Given the description of an element on the screen output the (x, y) to click on. 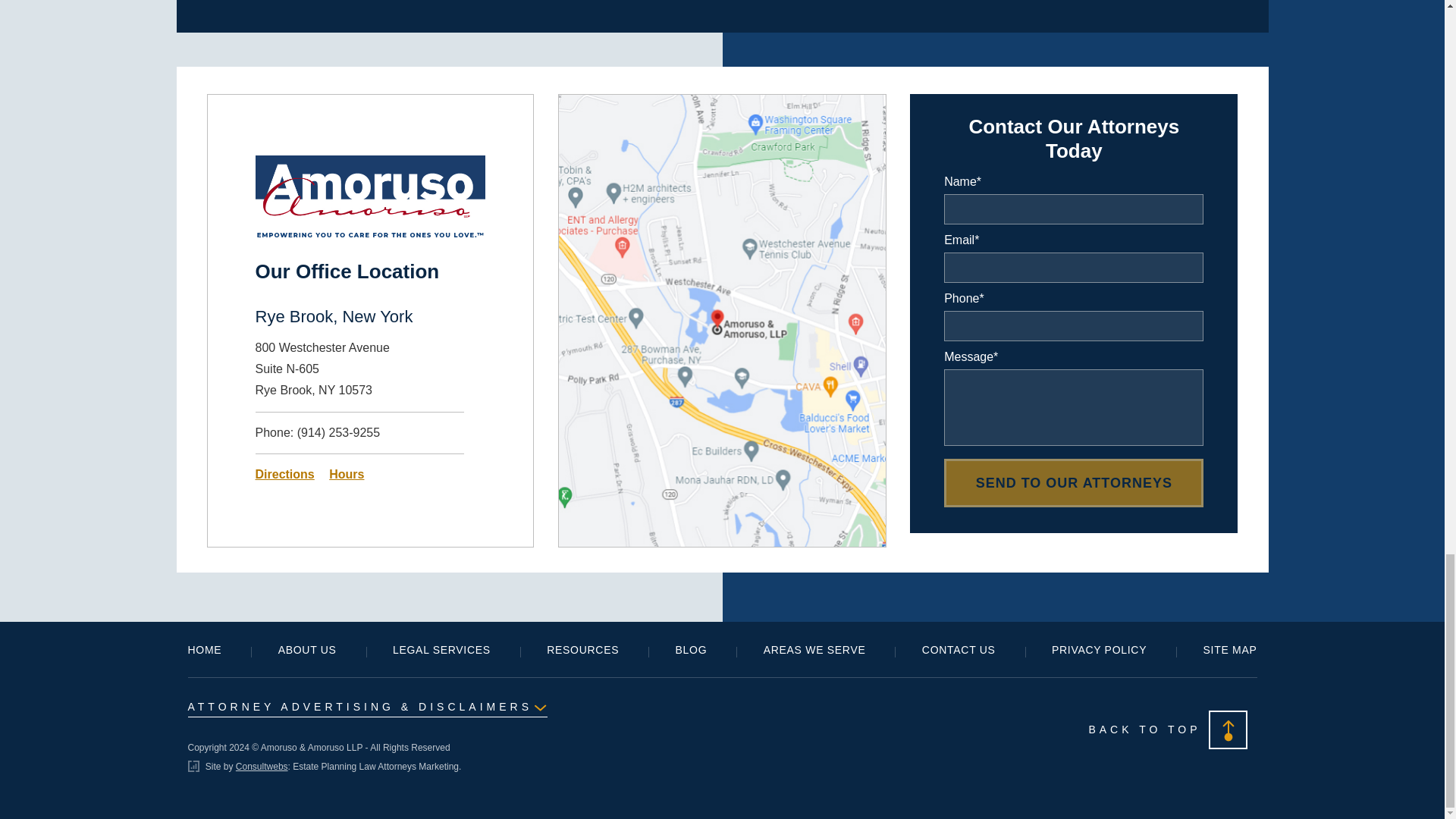
Send To Our Attorneys (1073, 482)
